Given the description of an element on the screen output the (x, y) to click on. 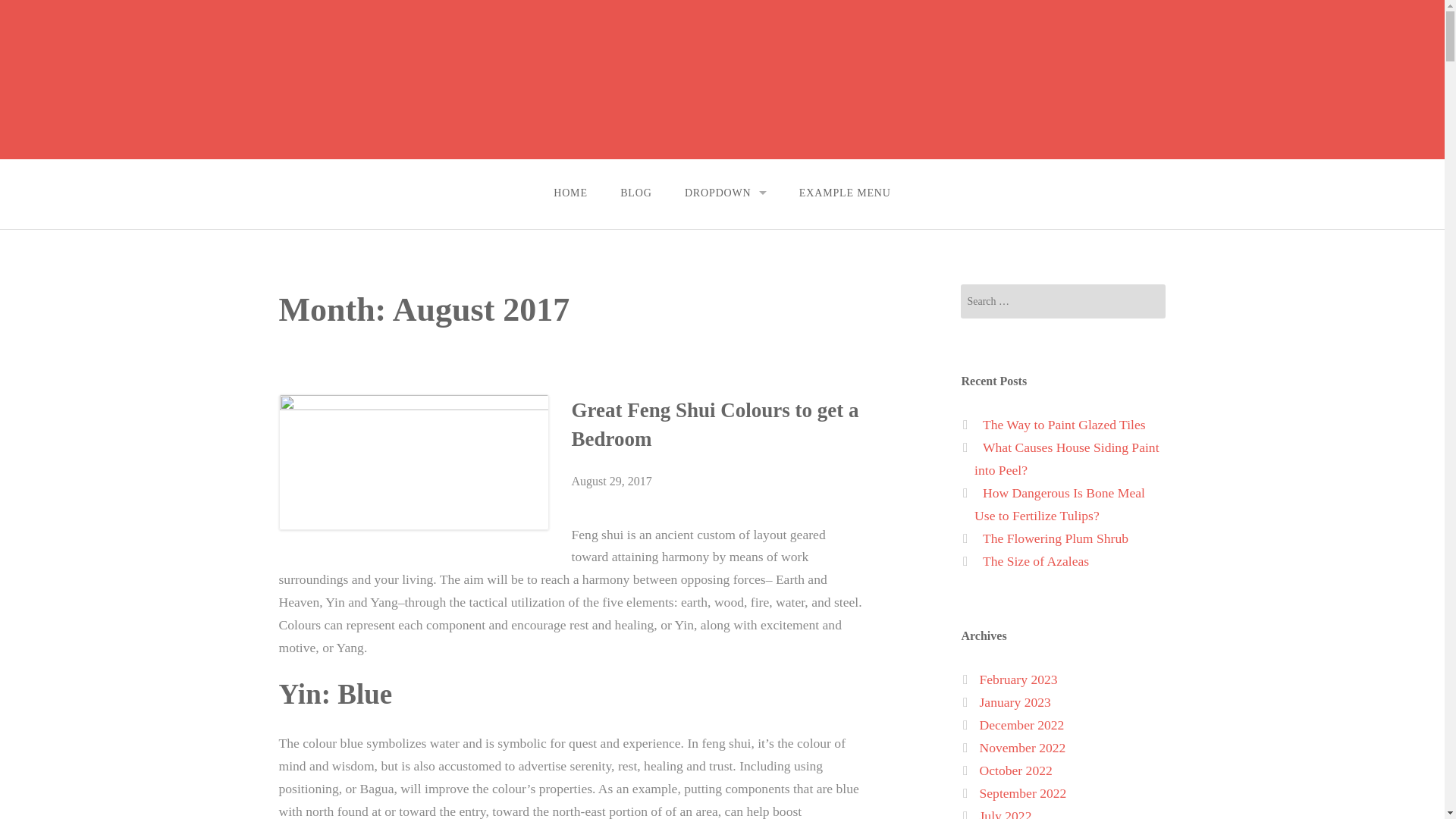
Great Feng Shui Colours to get a Bedroom (715, 424)
FIRST LEVEL (724, 235)
HOME (570, 192)
BLOG (636, 192)
THIRD LEVEL (724, 303)
DROPDOWN (725, 192)
EXAMPLE MENU (845, 192)
SECOND LEVEL (724, 269)
